Given the description of an element on the screen output the (x, y) to click on. 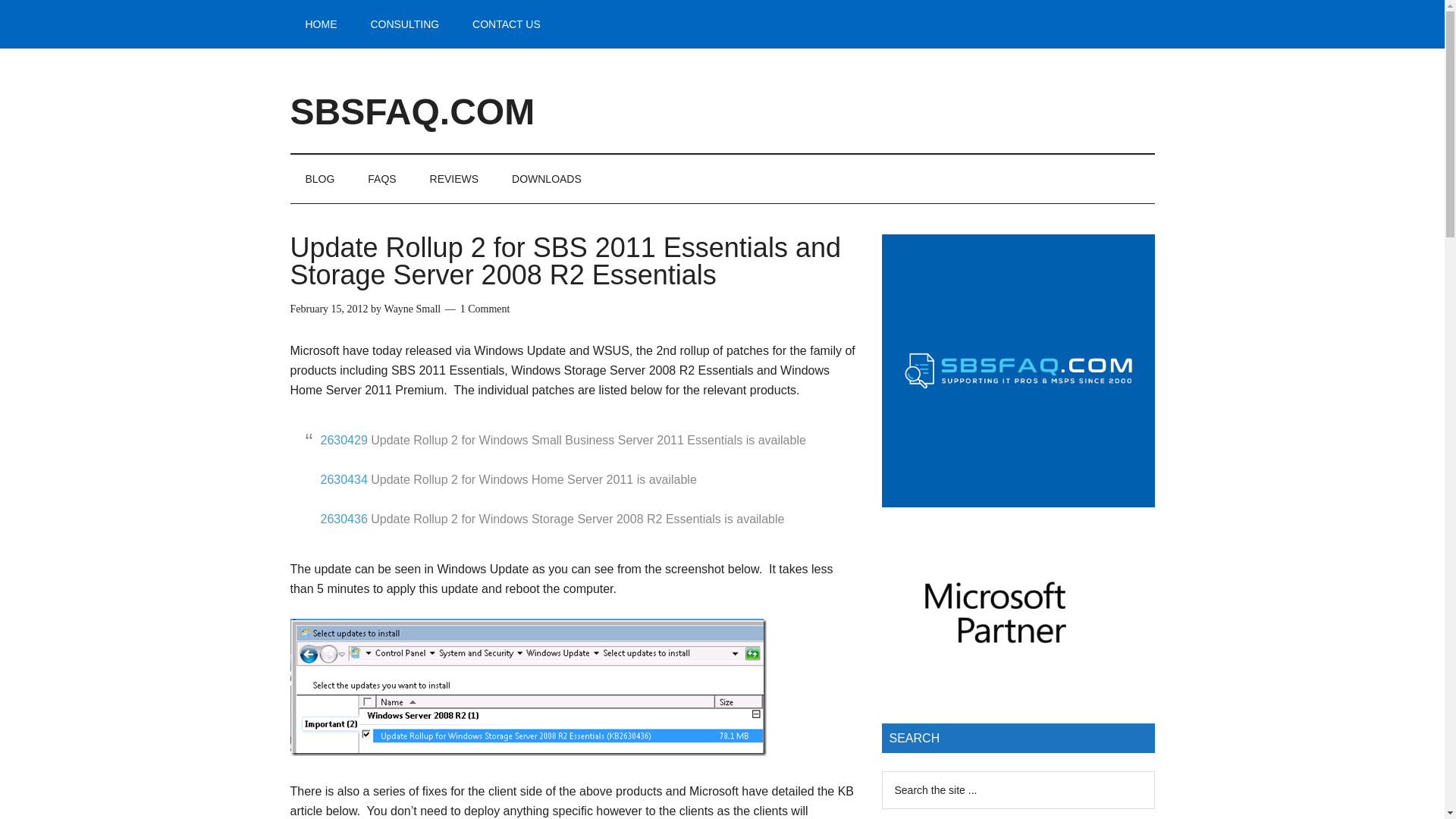
2630436 (343, 518)
image (527, 687)
BLOG (319, 178)
CONTACT US (506, 24)
1 Comment (485, 308)
FAQS (381, 178)
HOME (320, 24)
CONSULTING (404, 24)
DOWNLOADS (546, 178)
2630429 (343, 440)
2630434 (343, 479)
SBSFAQ.COM (411, 111)
Wayne Small (412, 308)
